Given the description of an element on the screen output the (x, y) to click on. 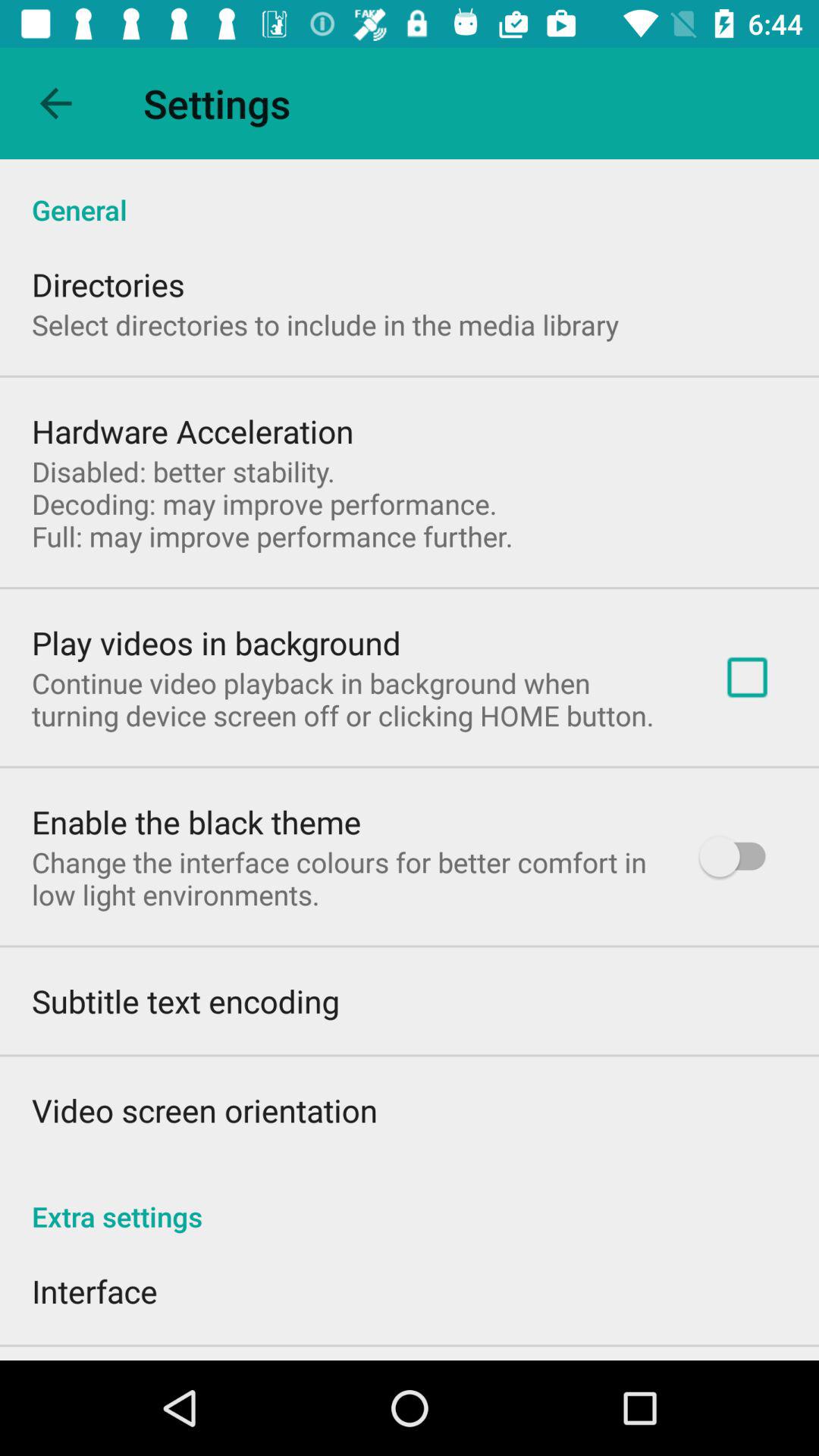
launch item above the change the interface (196, 821)
